Given the description of an element on the screen output the (x, y) to click on. 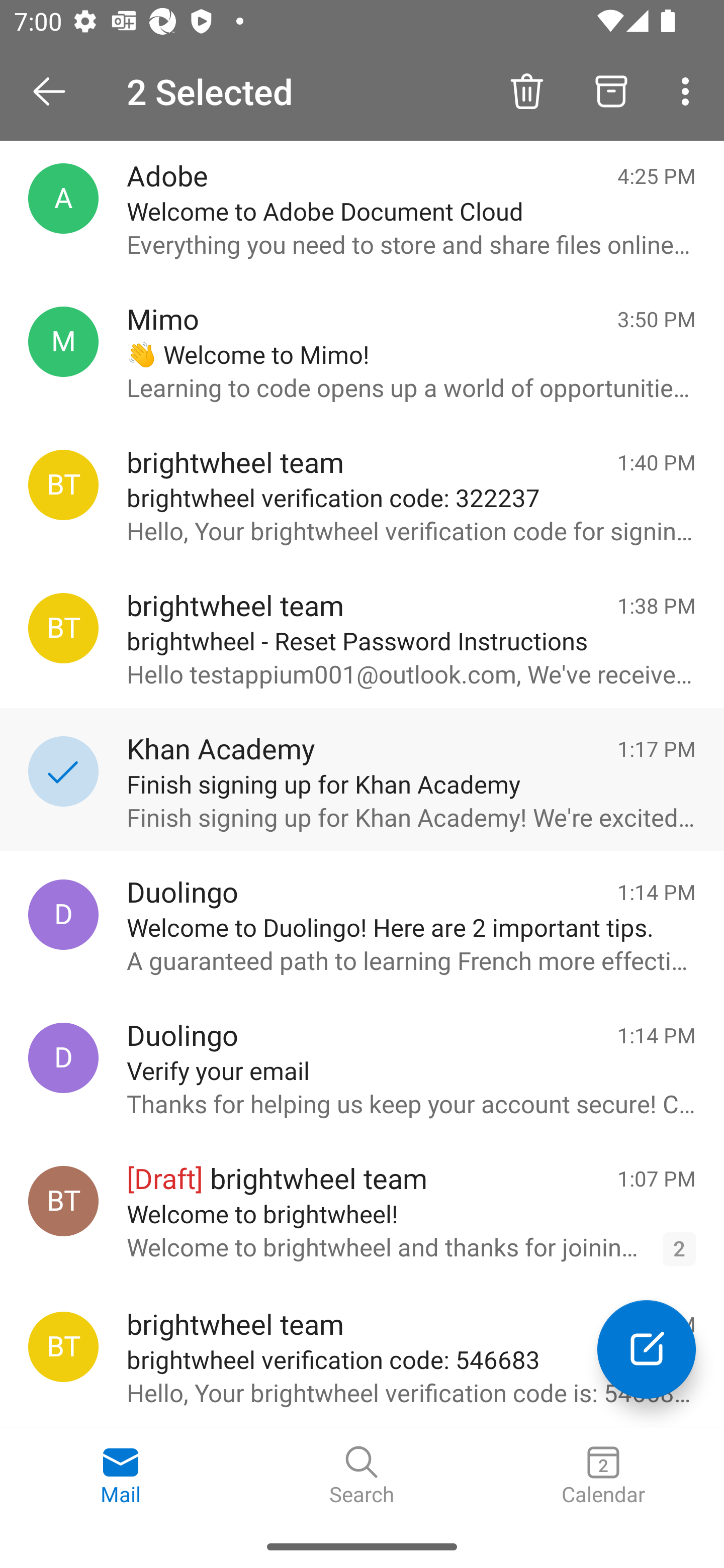
Delete (526, 90)
Archive (611, 90)
More options (688, 90)
Open Navigation Drawer (55, 91)
Adobe, message@adobe.com (63, 198)
Mimo, support@getmimo.com (63, 341)
brightwheel team, recovery@mybrightwheel.com (63, 485)
brightwheel team, recovery@mybrightwheel.com (63, 627)
Duolingo, hello@duolingo.com (63, 914)
Duolingo, hello@duolingo.com (63, 1057)
brightwheel team, welcome@mybrightwheel.com (63, 1200)
Compose (646, 1348)
brightwheel team, recovery@mybrightwheel.com (63, 1346)
Search (361, 1475)
Calendar (603, 1475)
